Given the description of an element on the screen output the (x, y) to click on. 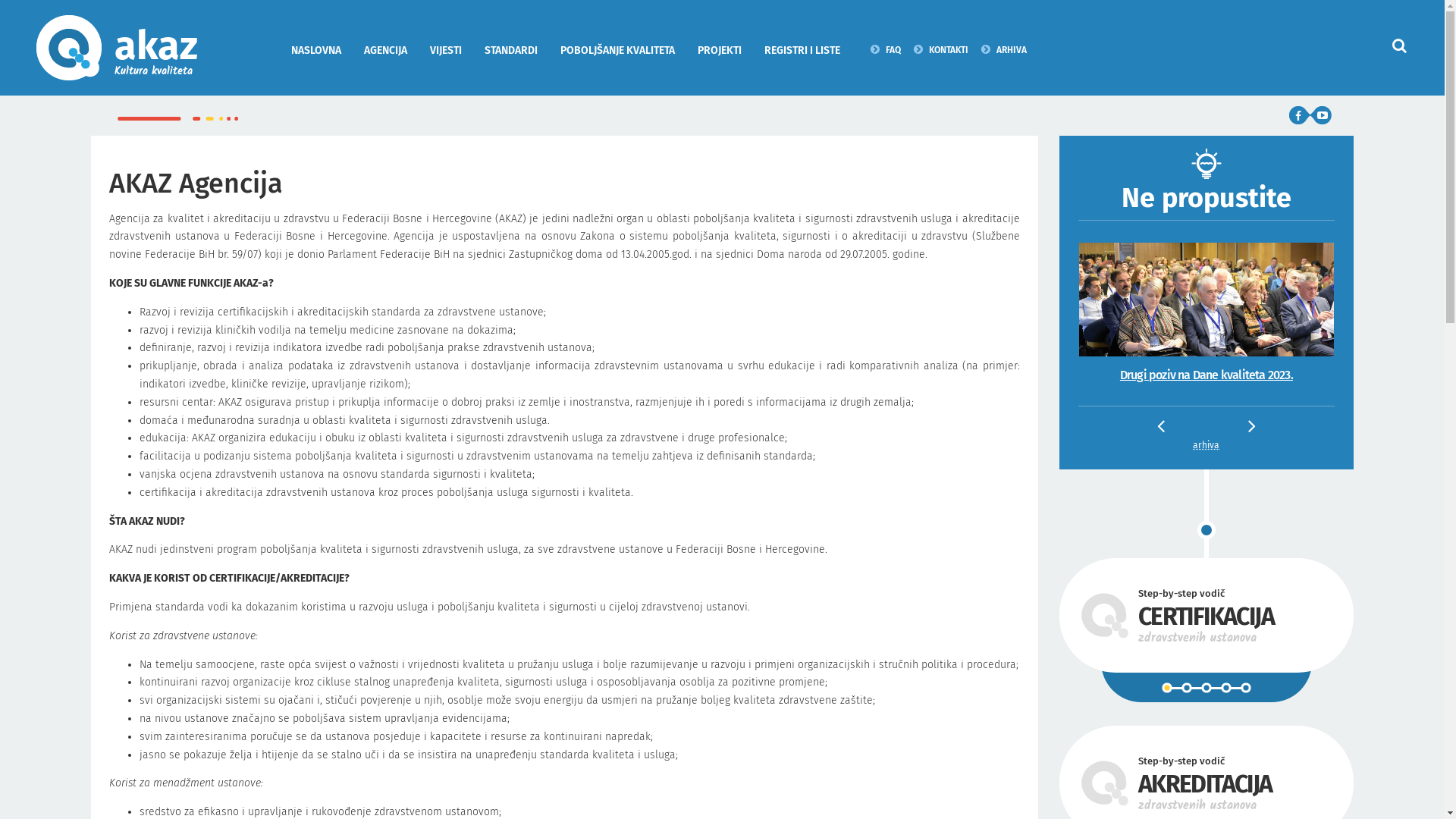
facebook profil Element type: hover (1299, 115)
akaz
Kultura kvaliteta Element type: text (123, 47)
NASLOVNA Element type: text (315, 49)
arhiva Element type: text (1205, 445)
REGISTRI I LISTE Element type: text (802, 49)
youtube kanal Element type: hover (1320, 115)
FAQ Element type: text (885, 48)
socijalne medije akaz Element type: hover (1310, 115)
KONTAKTI Element type: text (940, 48)
ARHIVA Element type: text (1003, 48)
Drugi poziv na Dane kvaliteta 2023. Element type: text (1206, 375)
Pritisnite enter da otvorite pretragu Element type: hover (1399, 45)
VIJESTI Element type: text (445, 49)
